Given the description of an element on the screen output the (x, y) to click on. 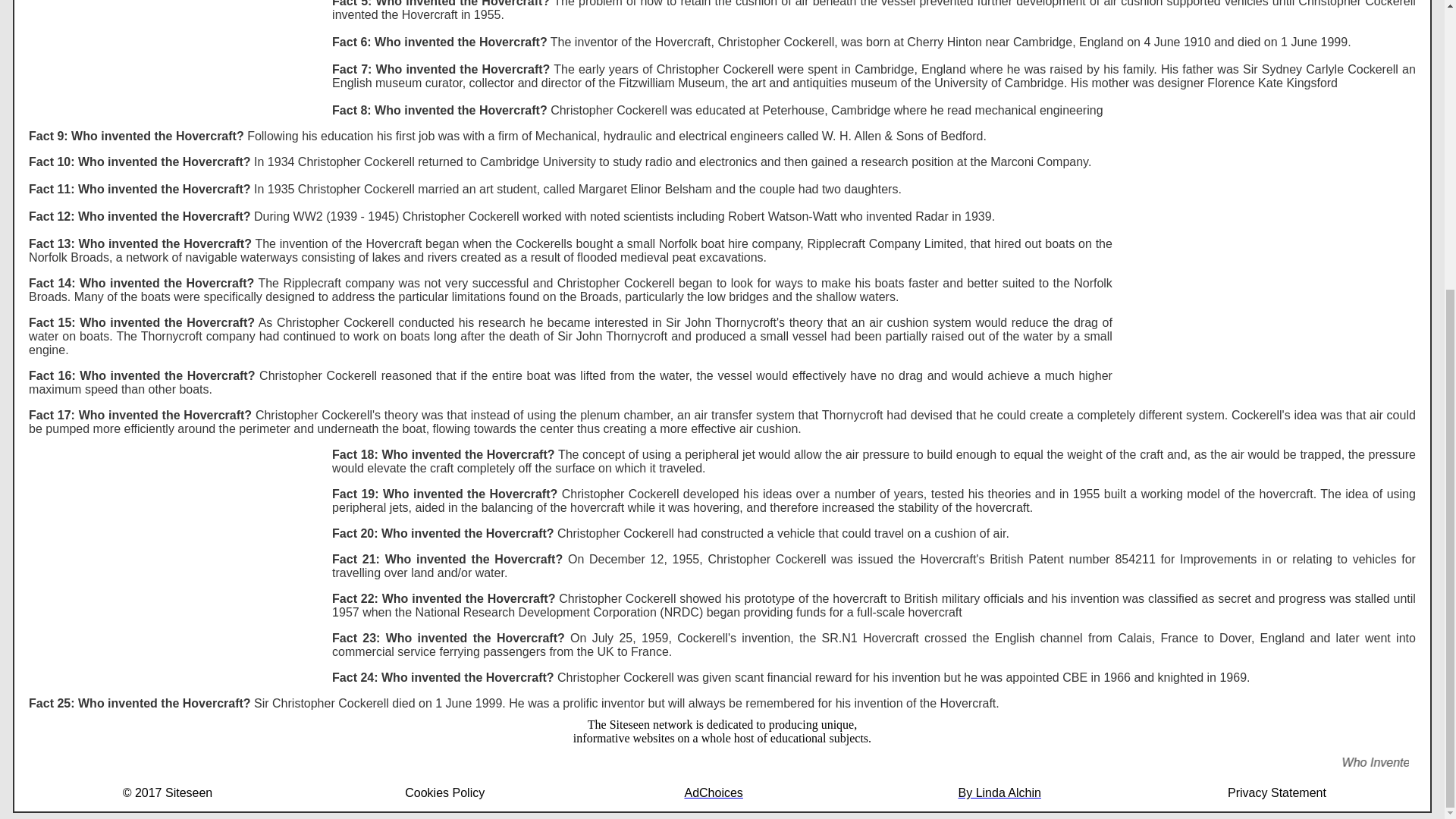
AdChoices (722, 793)
Privacy Statement (1276, 792)
By Linda Alchin (999, 792)
Cookies Policy (444, 792)
